Given the description of an element on the screen output the (x, y) to click on. 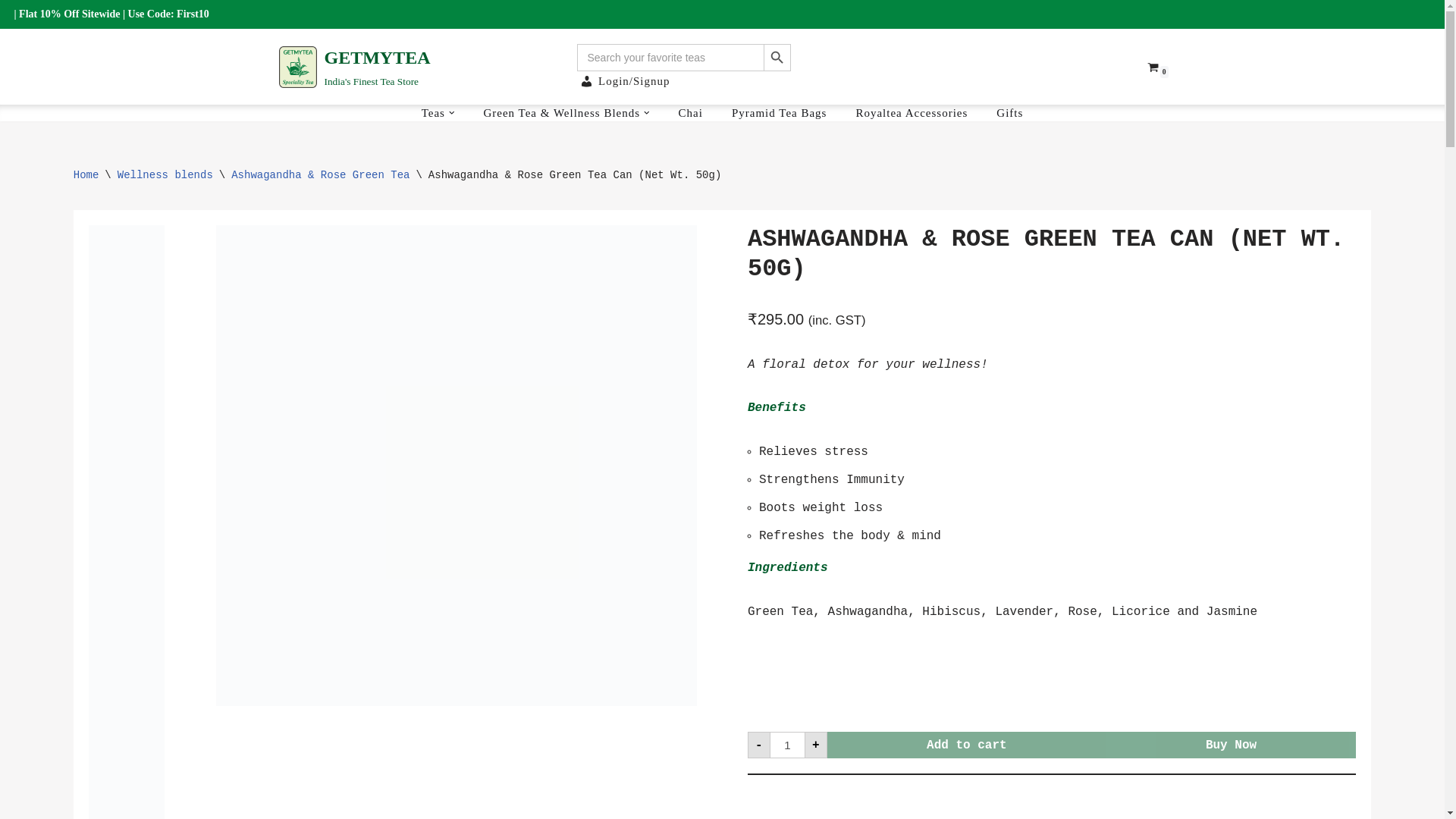
Gifts (1009, 112)
Skip to content (11, 31)
Search Button (776, 57)
0 (1152, 66)
Qty (787, 745)
Pyramid Tea Bags (779, 112)
Chai (690, 112)
Royaltea Accessories (912, 112)
1 (354, 66)
